Given the description of an element on the screen output the (x, y) to click on. 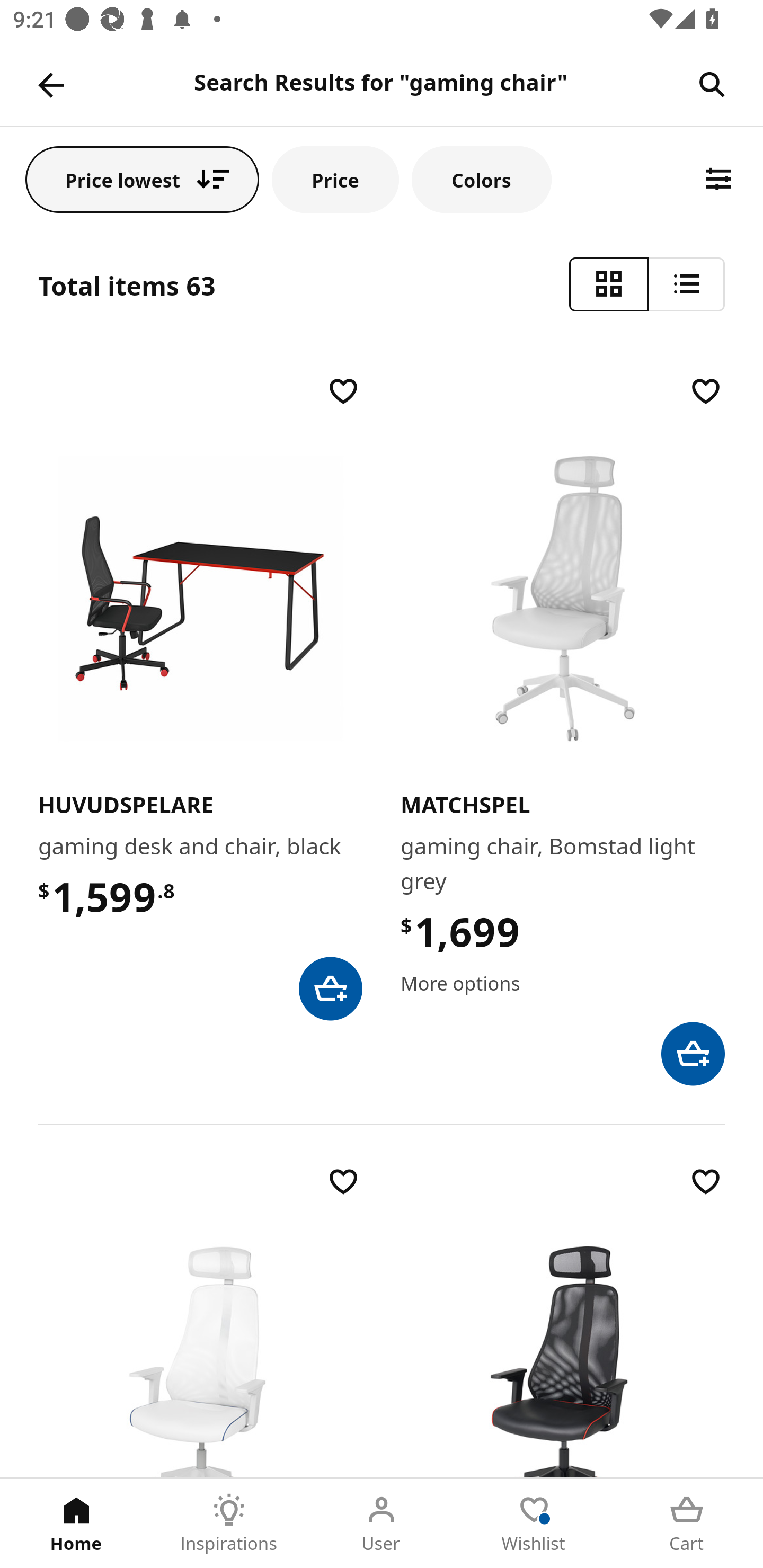
Price lowest (142, 179)
Price (335, 179)
Colors (481, 179)
Home
Tab 1 of 5 (76, 1522)
Inspirations
Tab 2 of 5 (228, 1522)
User
Tab 3 of 5 (381, 1522)
Wishlist
Tab 4 of 5 (533, 1522)
Cart
Tab 5 of 5 (686, 1522)
